Given the description of an element on the screen output the (x, y) to click on. 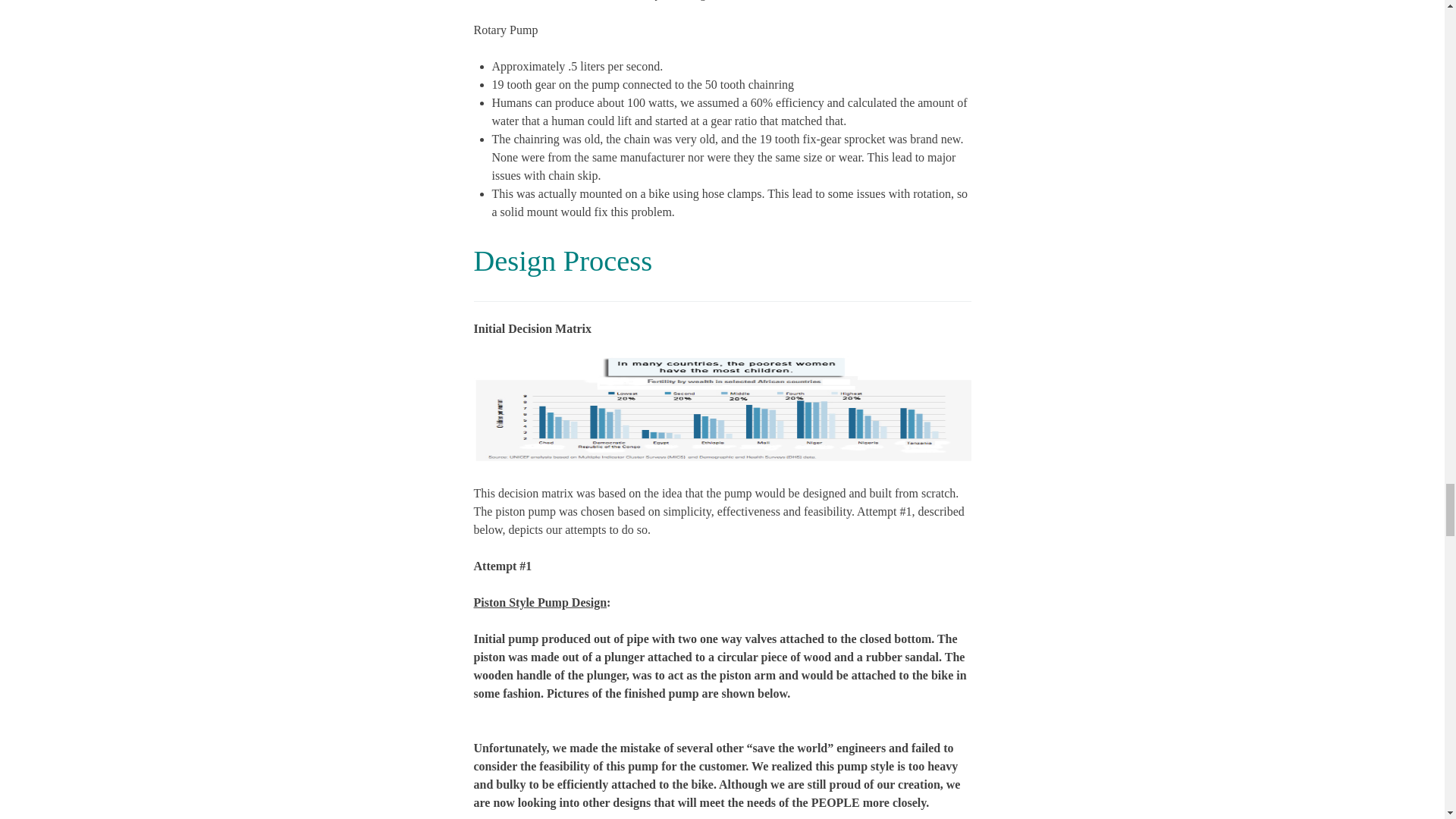
Picture 1.png (722, 408)
